Given the description of an element on the screen output the (x, y) to click on. 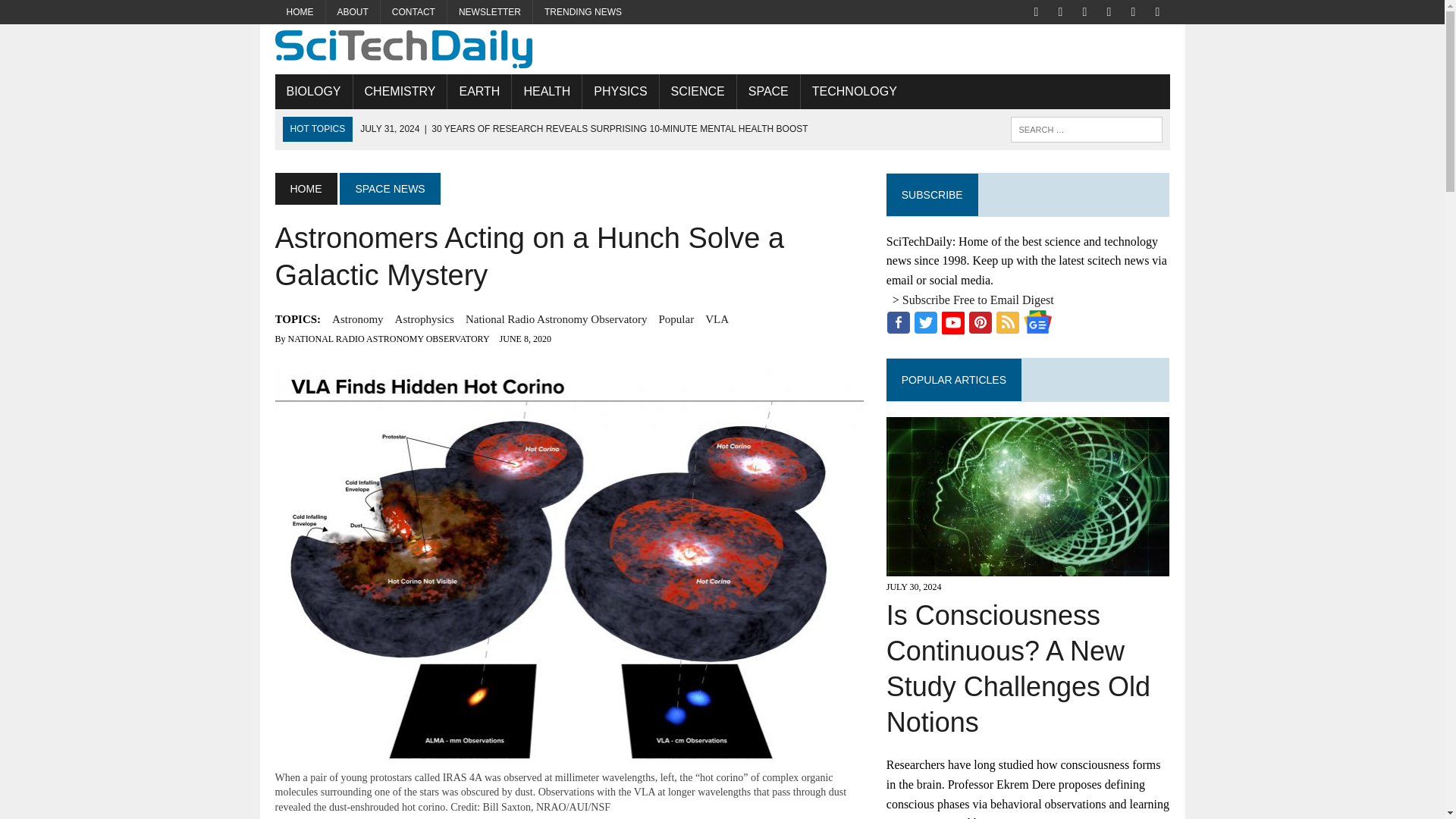
EARTH (478, 91)
Astronomy (357, 319)
Astrophysics (424, 319)
CHEMISTRY (399, 91)
CONTACT (413, 12)
NEWSLETTER (489, 12)
HOME (305, 188)
National Radio Astronomy Observatory (556, 319)
TECHNOLOGY (854, 91)
HEALTH (546, 91)
